Given the description of an element on the screen output the (x, y) to click on. 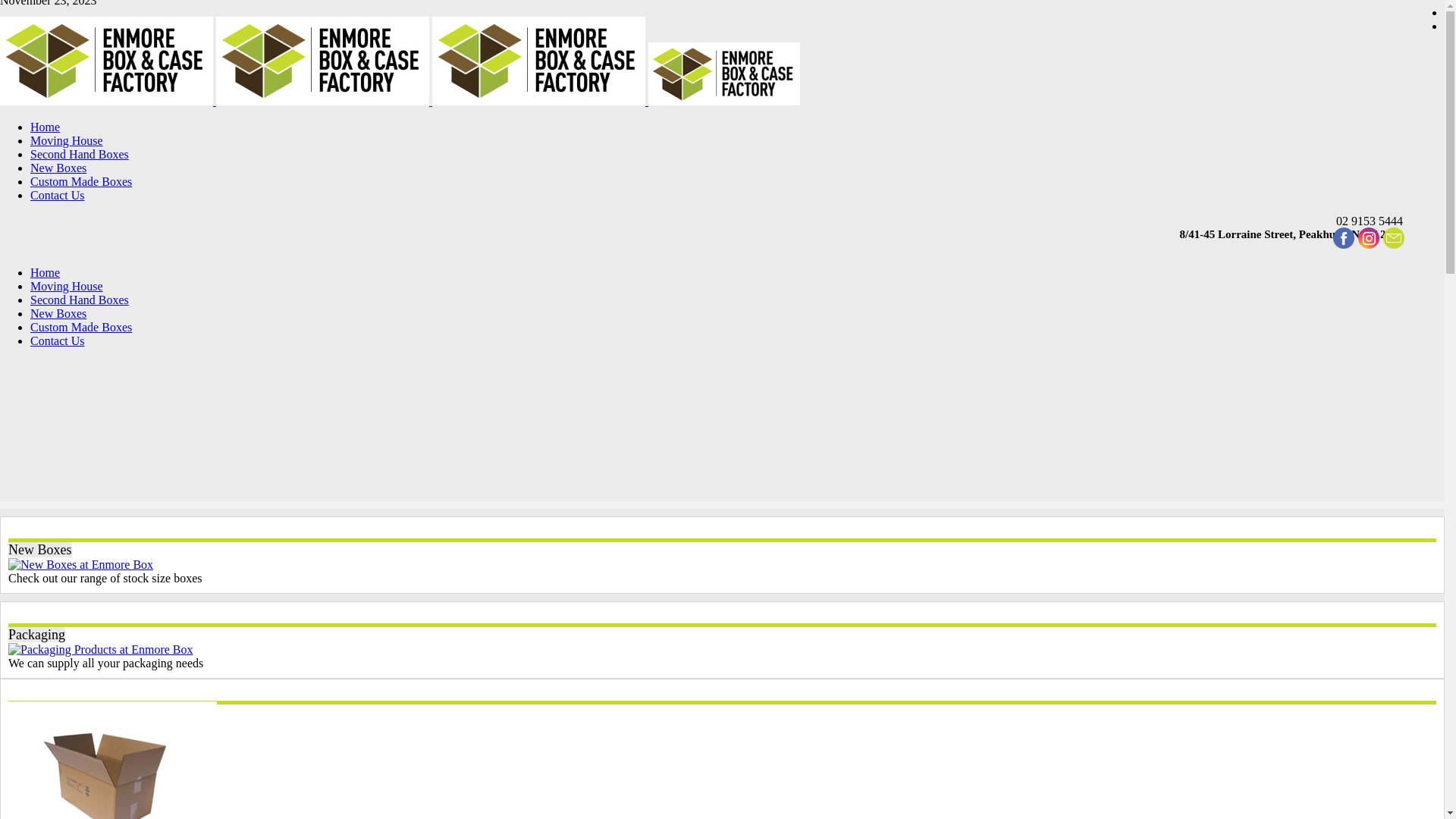
Home Element type: text (44, 272)
Check out our range of stock size boxes Element type: hover (80, 564)
New Boxes Element type: text (58, 313)
Second Hand Boxes Element type: text (79, 299)
Home Element type: text (44, 126)
New Boxes Element type: text (58, 167)
Enmore Box Element type: hover (400, 100)
Custom Made Boxes Element type: text (80, 326)
Contact Us Element type: text (57, 194)
Moving House Element type: text (66, 140)
Contact Us Element type: text (57, 340)
We can supply all your packaging needs Element type: hover (100, 649)
Moving House Element type: text (66, 285)
Second Hand Boxes Element type: text (79, 153)
Custom Made Boxes Element type: text (80, 181)
